Given the description of an element on the screen output the (x, y) to click on. 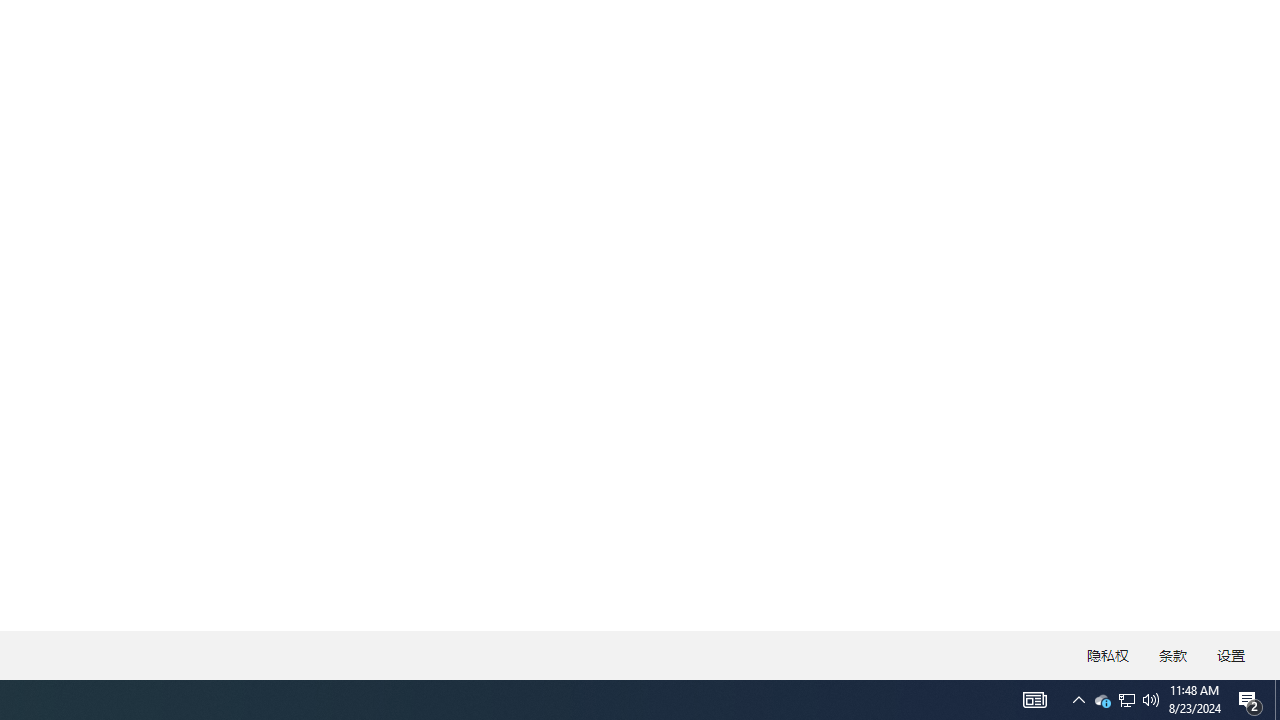
Show desktop (1277, 699)
Notification Chevron (1078, 699)
Q2790: 100% (1151, 699)
User Promoted Notification Area (1126, 699)
AutomationID: 4105 (1034, 699)
Action Center, 2 new notifications (1126, 699)
